Given the description of an element on the screen output the (x, y) to click on. 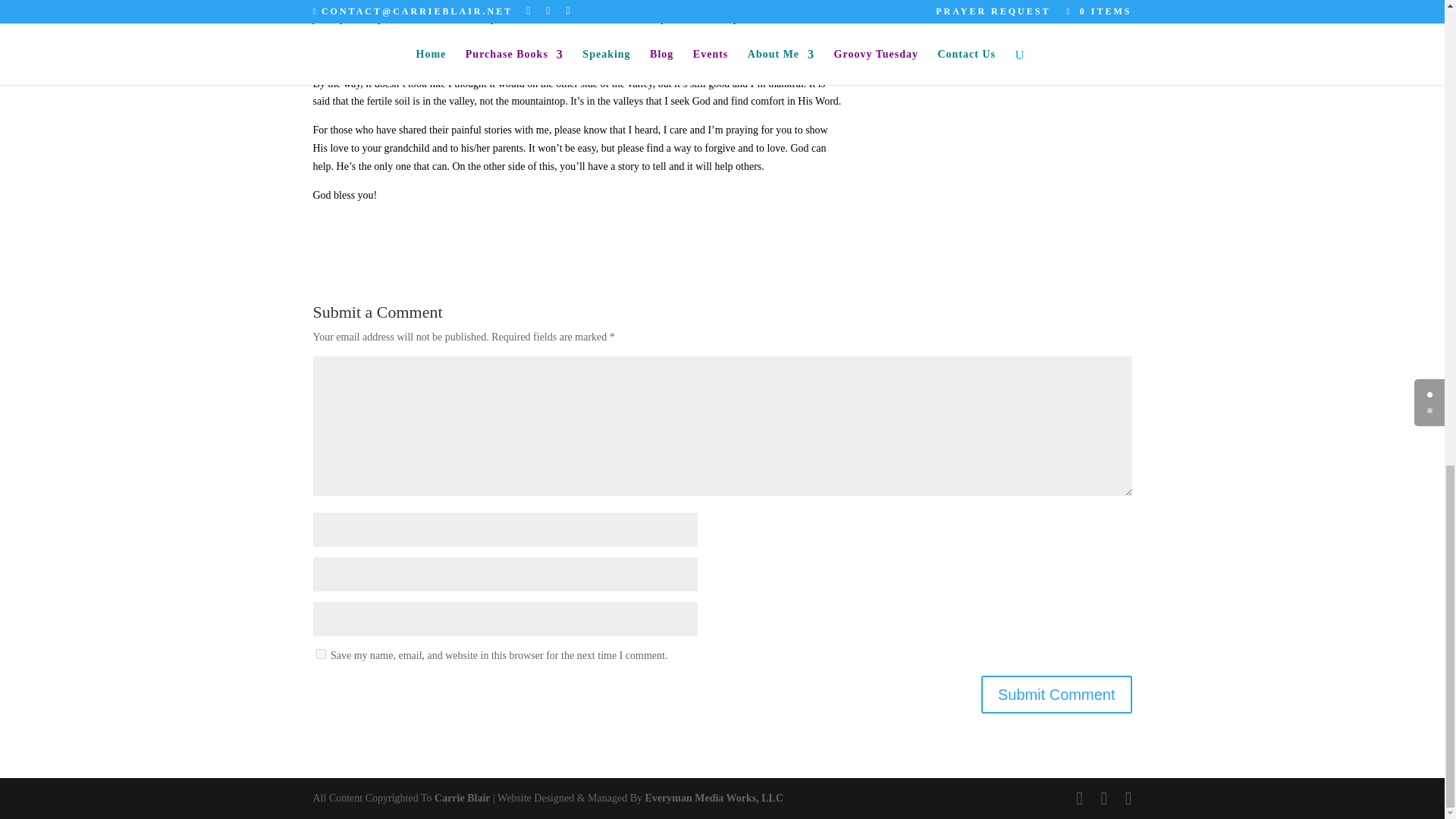
Submit Comment (1056, 694)
yes (319, 654)
